Given the description of an element on the screen output the (x, y) to click on. 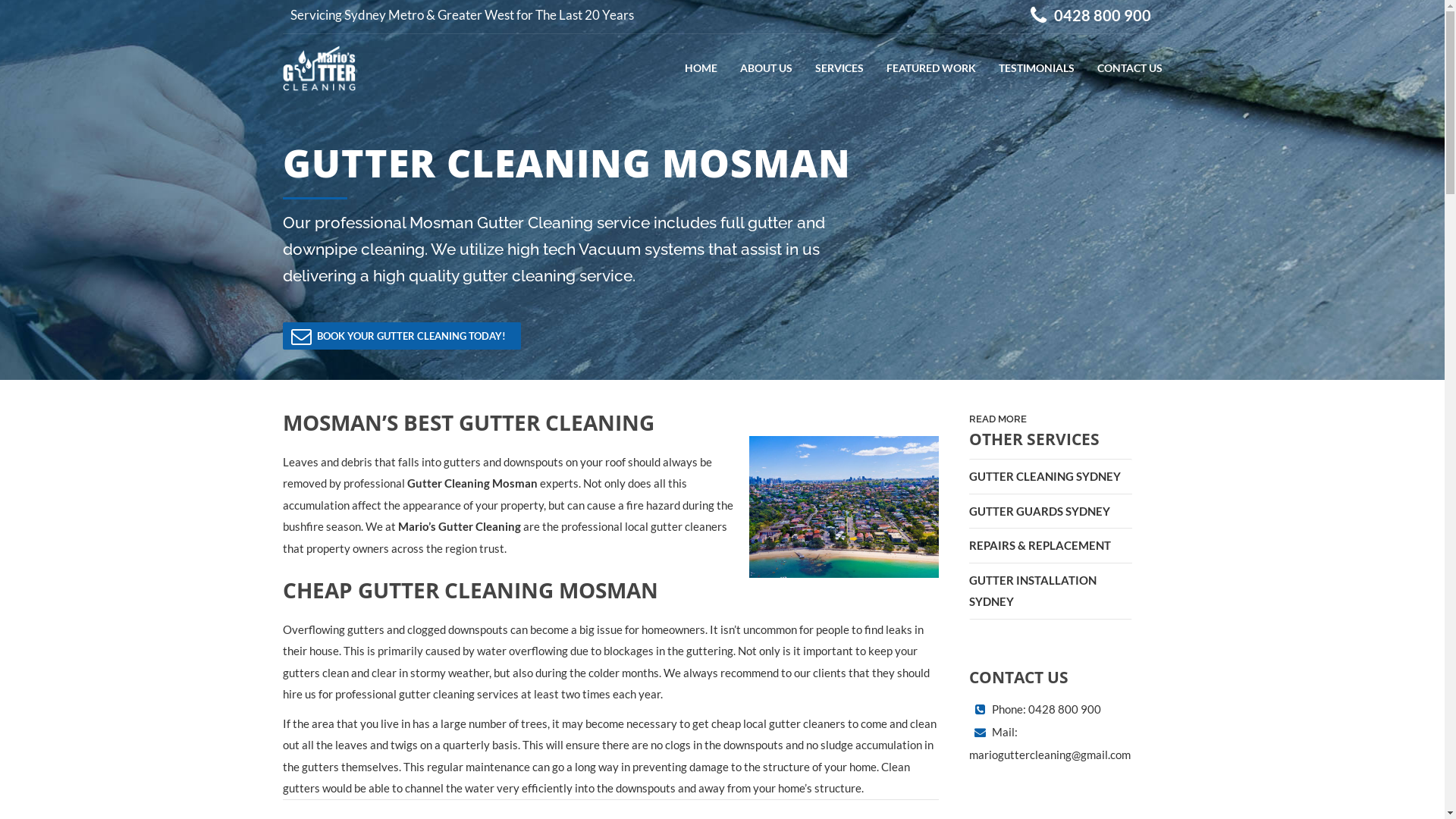
TESTIMONIALS Element type: text (1035, 68)
GUTTER CLEANING SYDNEY Element type: text (1050, 476)
Gutter Cleaning Mosman Element type: text (471, 482)
HOME Element type: text (700, 68)
GUTTER INSTALLATION SYDNEY Element type: text (1050, 590)
ABOUT US Element type: text (766, 68)
REPAIRS & REPLACEMENT Element type: text (1050, 545)
BOOK YOUR GUTTER CLEANING TODAY! Element type: text (401, 335)
SERVICES Element type: text (838, 68)
FEATURED WORK Element type: text (930, 68)
CONTACT US Element type: text (1128, 68)
Mail: marioguttercleaning@gmail.com Element type: text (1049, 742)
GUTTER GUARDS SYDNEY Element type: text (1050, 511)
0428 800 900 Element type: text (1092, 14)
Phone: 0428 800 900 Element type: text (1046, 708)
